Given the description of an element on the screen output the (x, y) to click on. 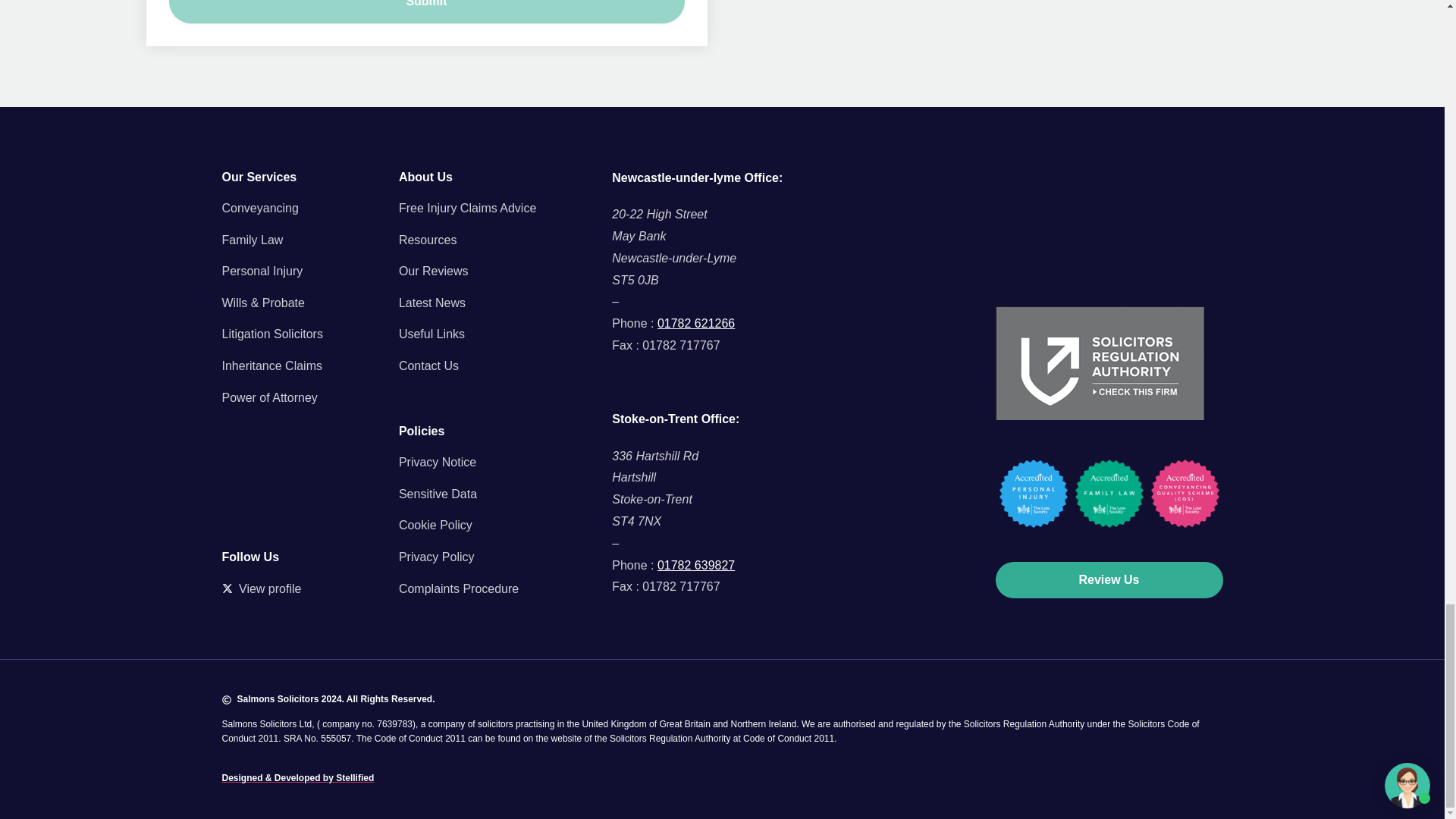
01782 639827 (696, 564)
01782 621266 (696, 323)
Submit (426, 11)
